Given the description of an element on the screen output the (x, y) to click on. 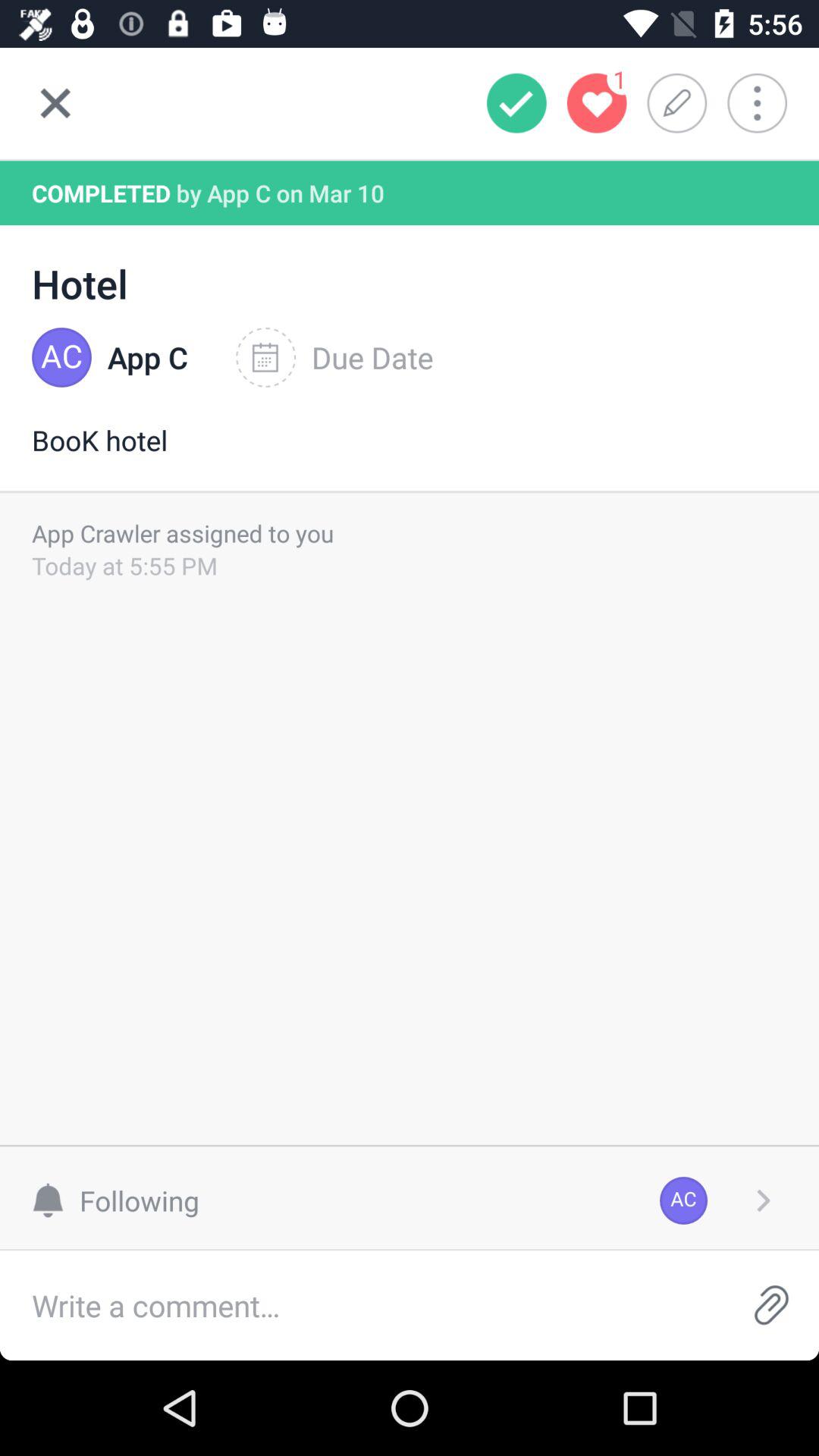
jump until book hotel (409, 455)
